Given the description of an element on the screen output the (x, y) to click on. 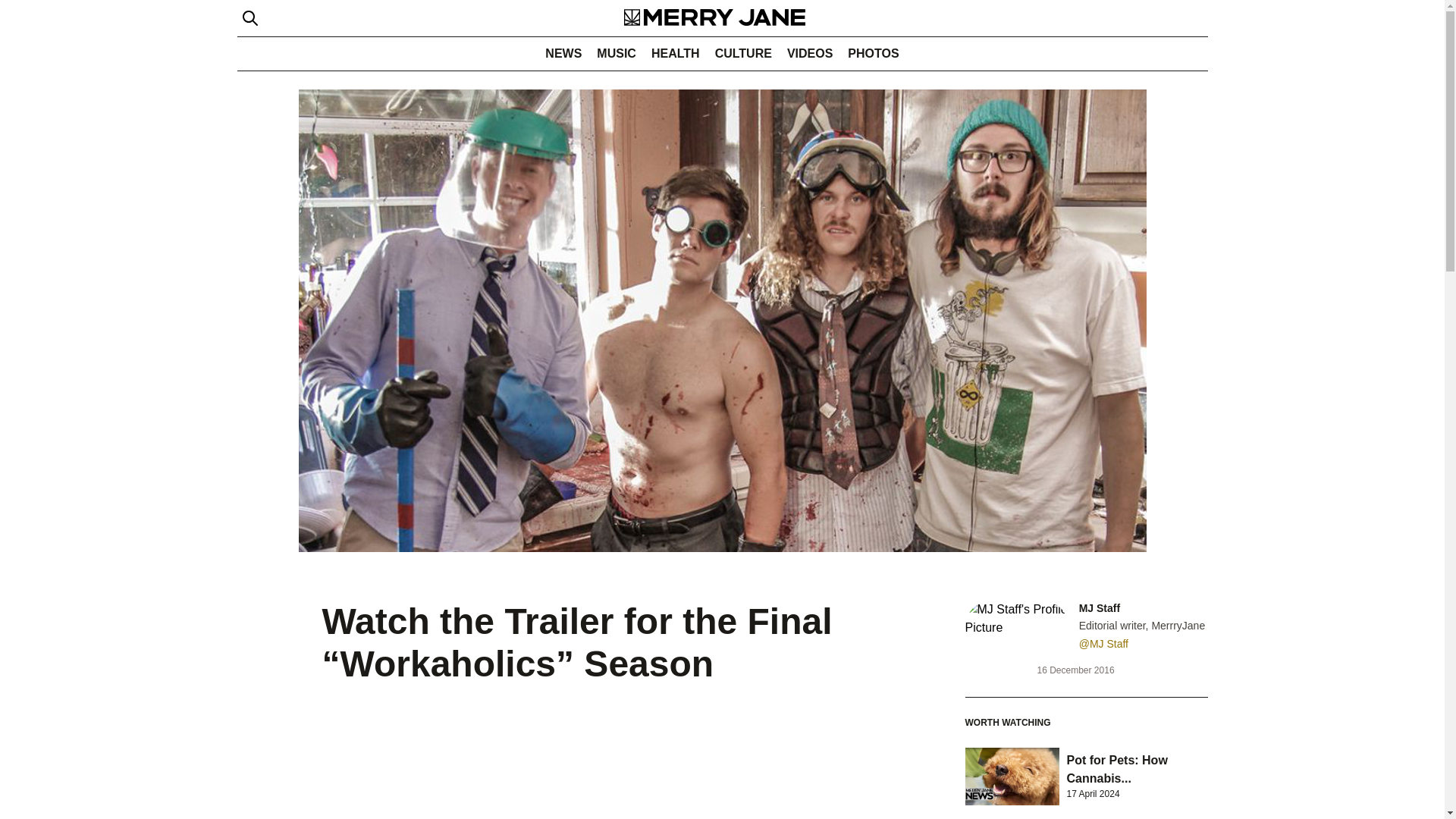
Pot for Pets: How Cannabis... (1116, 768)
PHOTOS (872, 52)
VIDEOS (809, 52)
CULTURE (742, 52)
NEWS (563, 52)
HEALTH (675, 52)
MUSIC (616, 52)
